Given the description of an element on the screen output the (x, y) to click on. 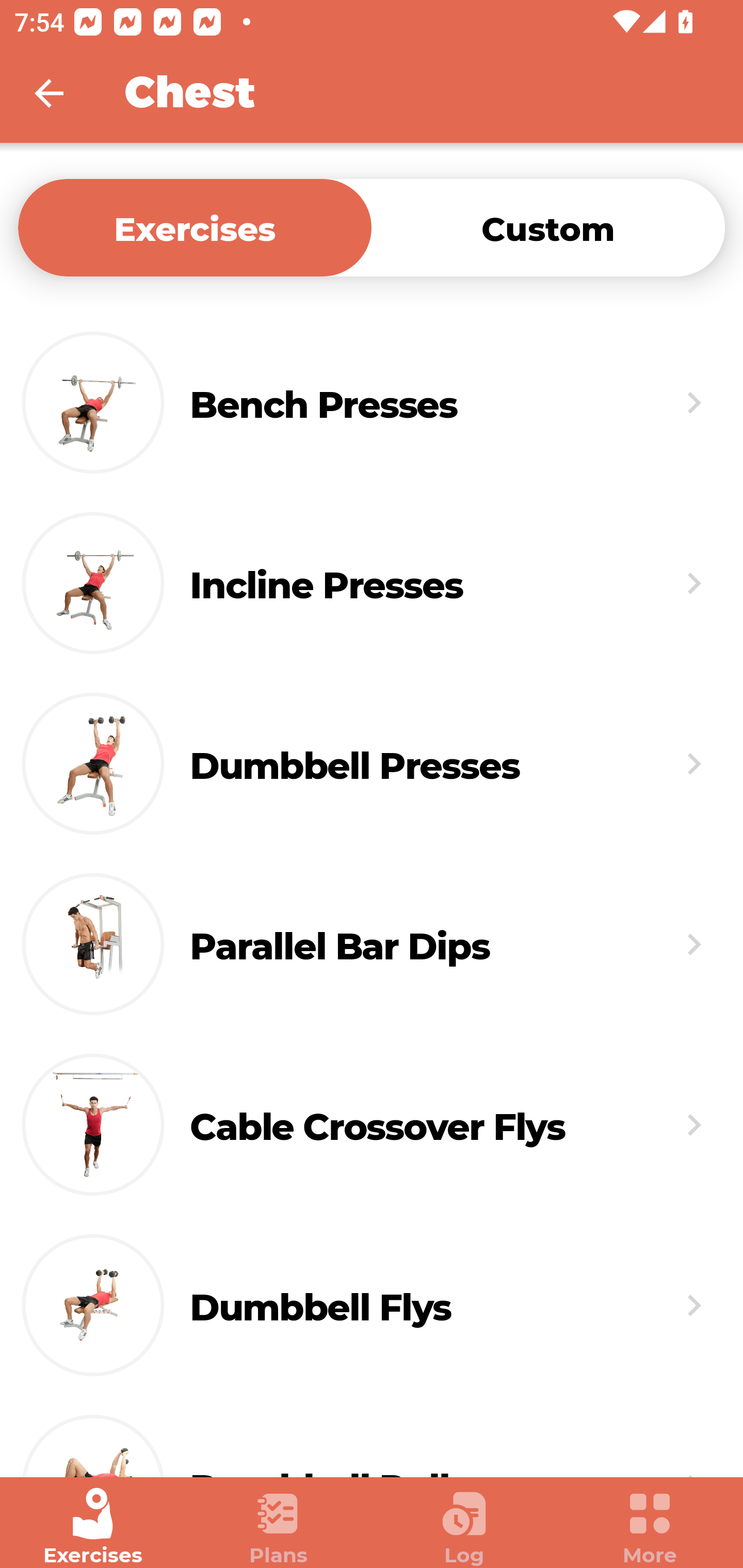
Back (62, 92)
Exercises (194, 226)
Custom (548, 226)
Exercises (92, 1527)
Plans (278, 1527)
Log (464, 1527)
More (650, 1527)
